Given the description of an element on the screen output the (x, y) to click on. 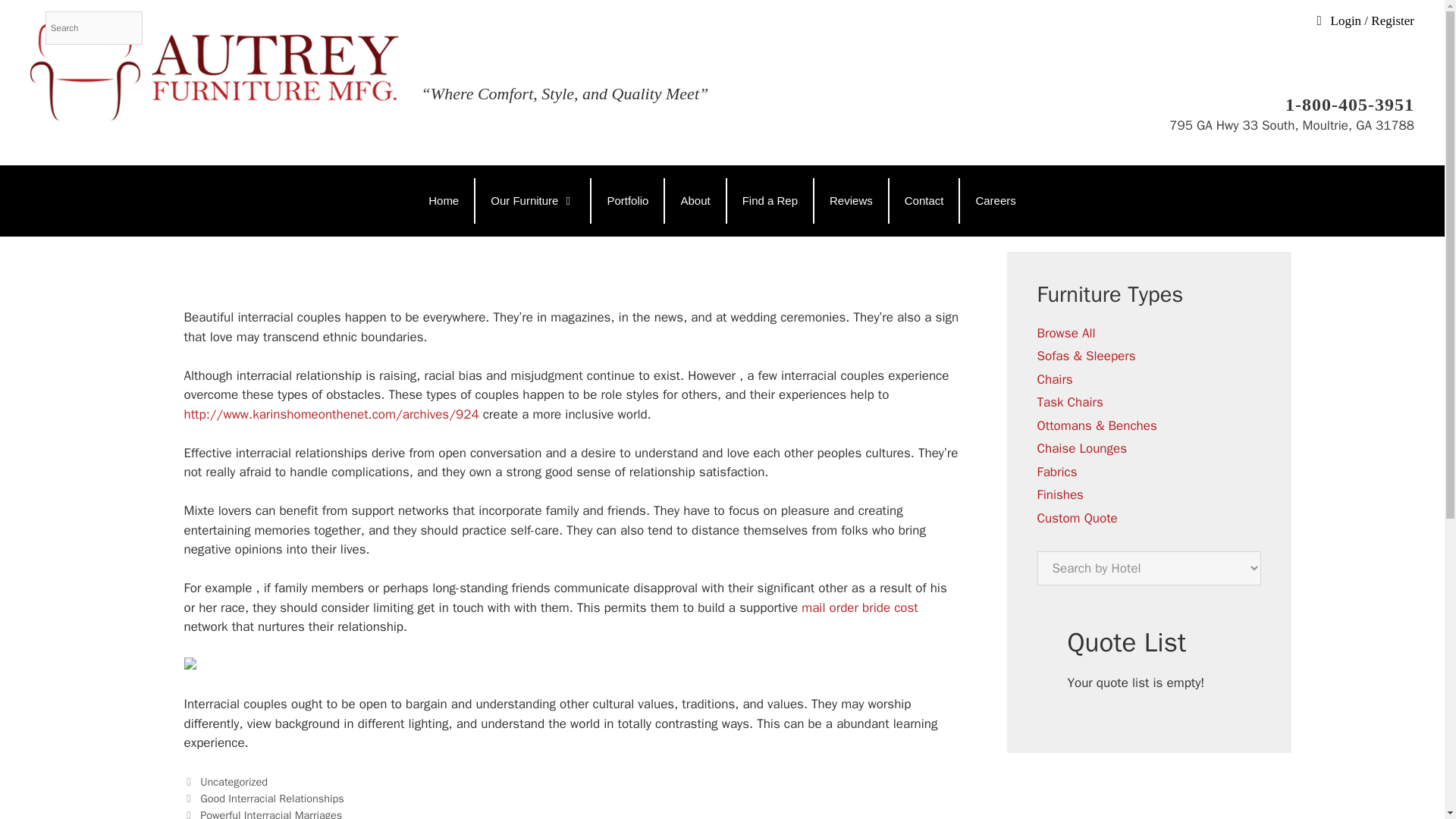
Find a Rep (769, 200)
Home (443, 200)
Browse All (1066, 333)
Our Furniture (532, 200)
Good Interracial Relationships (271, 798)
Careers (994, 200)
mail order bride cost (859, 606)
About (695, 200)
Contact (924, 200)
Reviews (850, 200)
795 GA Hwy 33 South, Moultrie, GA 31788 (1291, 125)
Powerful Interracial Marriages (271, 813)
Portfolio (627, 200)
1-800-405-3951 (1291, 103)
Uncategorized (233, 781)
